Given the description of an element on the screen output the (x, y) to click on. 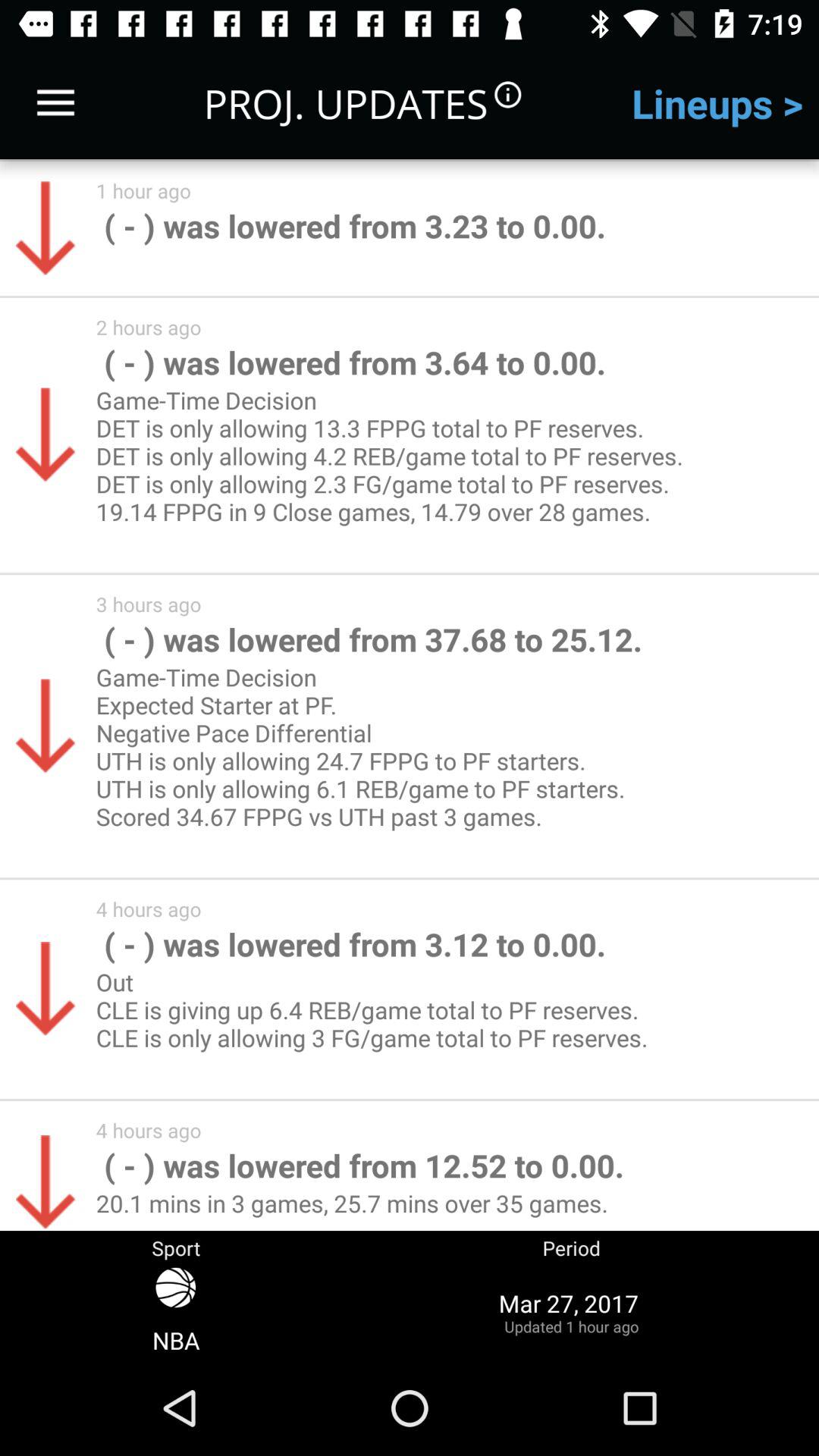
select icon next to the sport item (571, 1311)
